Given the description of an element on the screen output the (x, y) to click on. 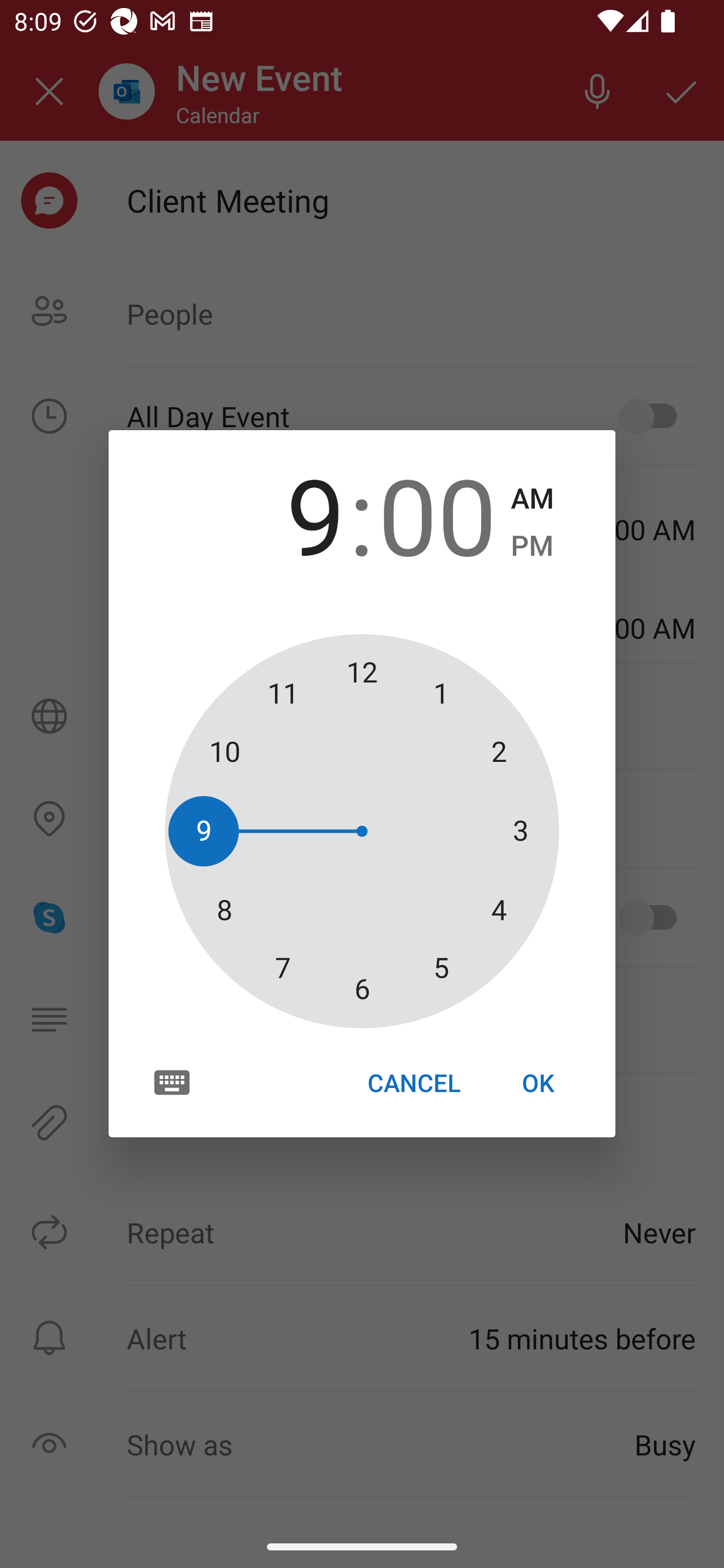
9 (285, 513)
00 (436, 513)
AM (532, 498)
PM (532, 546)
CANCEL (413, 1082)
OK (537, 1082)
Switch to text input mode for the time input. (171, 1081)
